Given the description of an element on the screen output the (x, y) to click on. 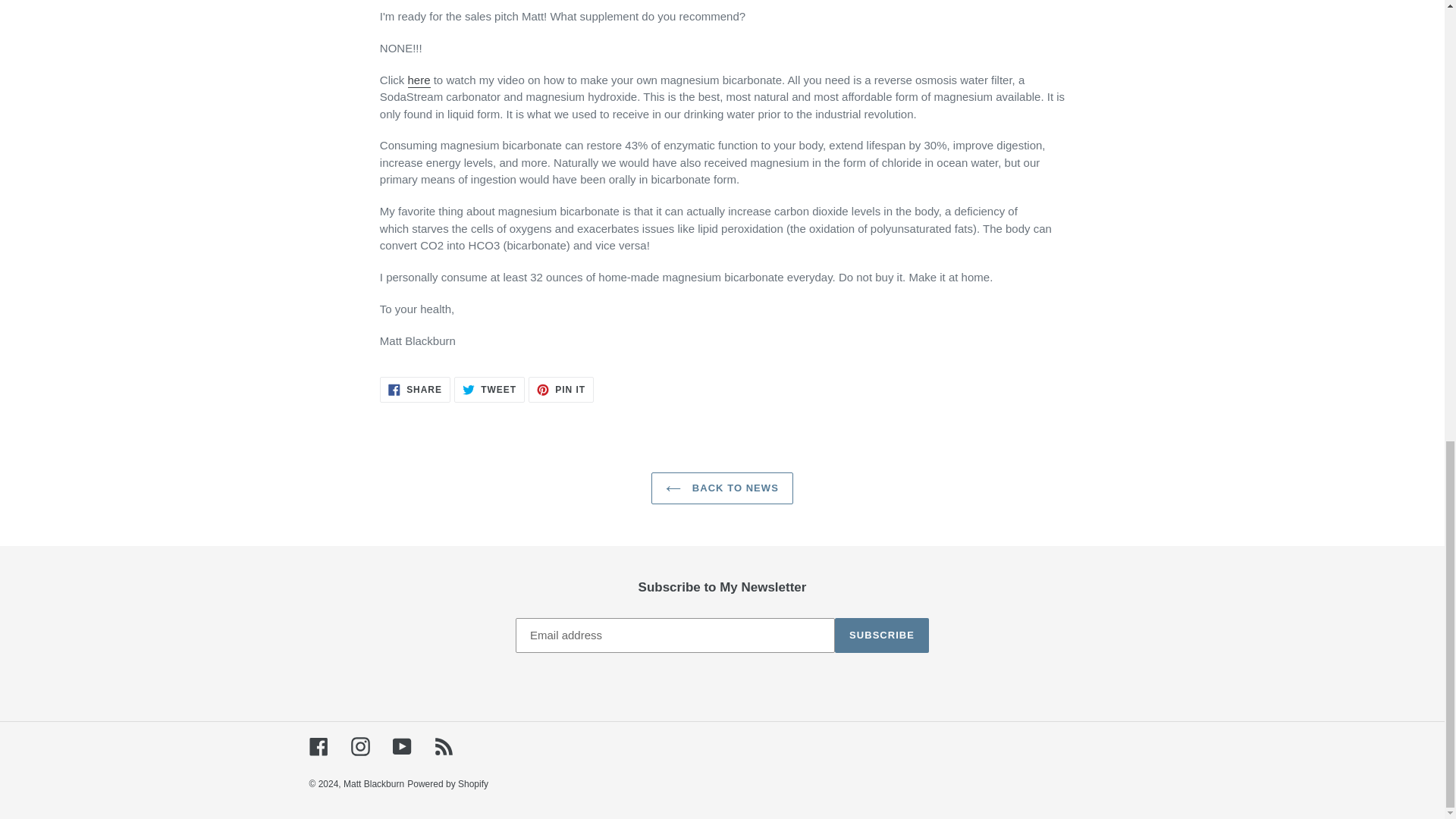
Matt Blackburn (489, 389)
here (414, 389)
Facebook (373, 783)
SUBSCRIBE (418, 80)
BACK TO NEWS (318, 746)
Powered by Shopify (881, 635)
Instagram (721, 488)
